Given the description of an element on the screen output the (x, y) to click on. 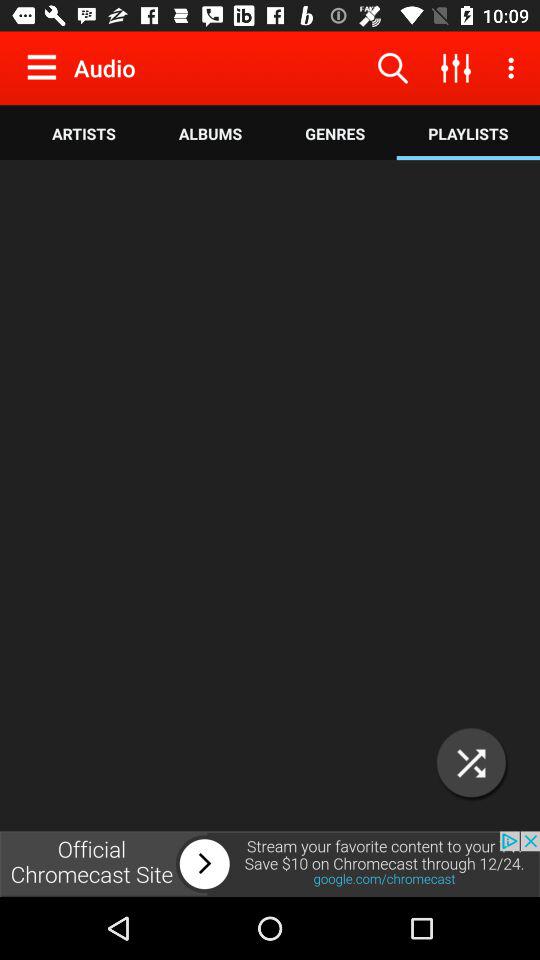
expand menu (46, 67)
